Given the description of an element on the screen output the (x, y) to click on. 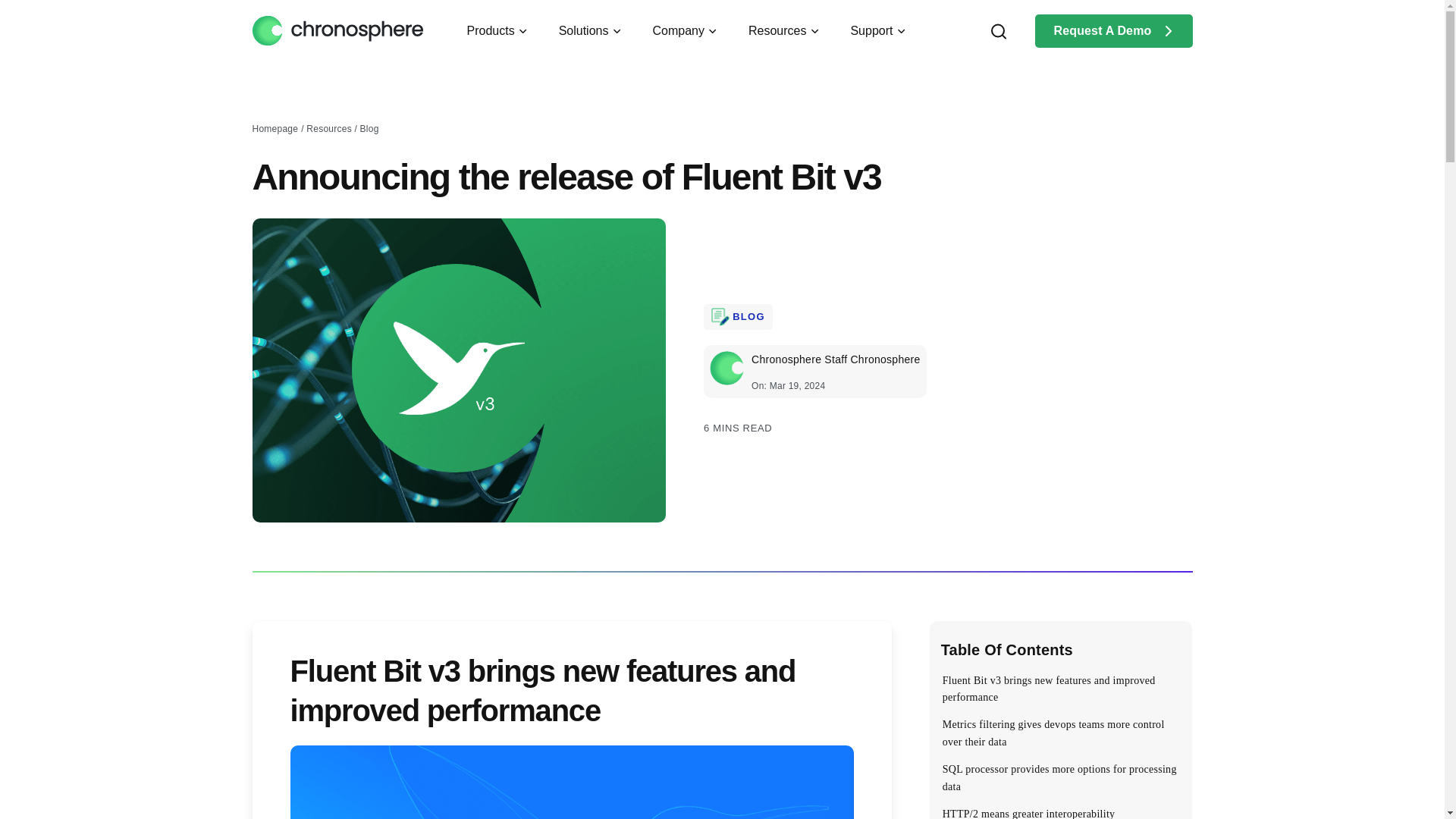
Resources (785, 31)
Solutions (592, 31)
Fluent Bit v3 brings new features and improved performance (1058, 689)
Green-Technology-Image-preview-card-fluent-bit-v3 (458, 370)
SQL processor provides more options for processing data (1058, 778)
Company (686, 31)
Products (499, 31)
